Given the description of an element on the screen output the (x, y) to click on. 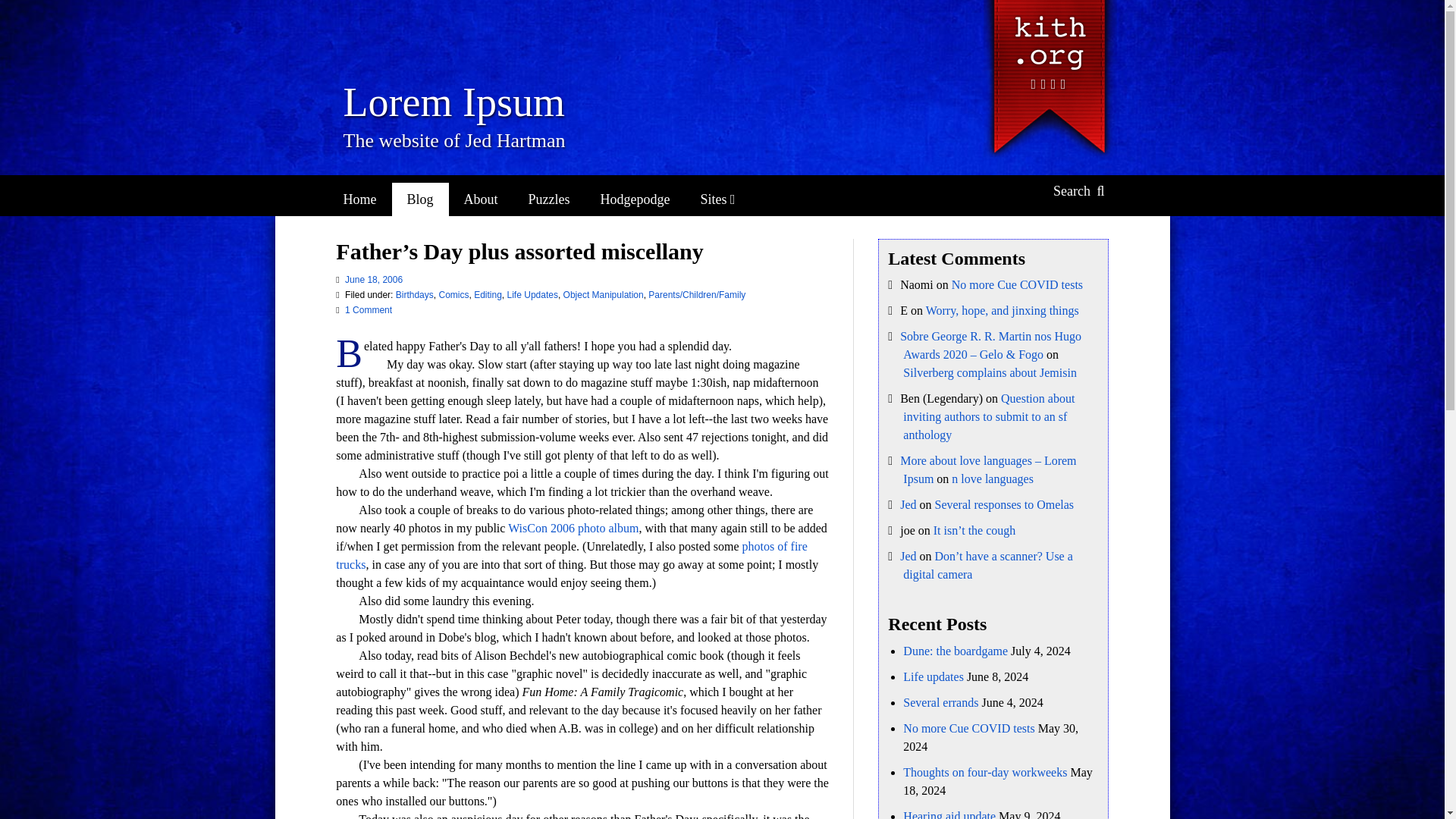
Home (359, 199)
Home (359, 199)
Search (1078, 191)
Kith.org (1047, 36)
Sites (716, 199)
About (480, 199)
Puzzles (549, 199)
Lorem Ipsum (453, 102)
Sites (716, 199)
About (480, 199)
Blog (419, 199)
Puzzles (549, 199)
Hodgepodge (635, 199)
Blog (419, 199)
Hodgepodge (635, 199)
